Given the description of an element on the screen output the (x, y) to click on. 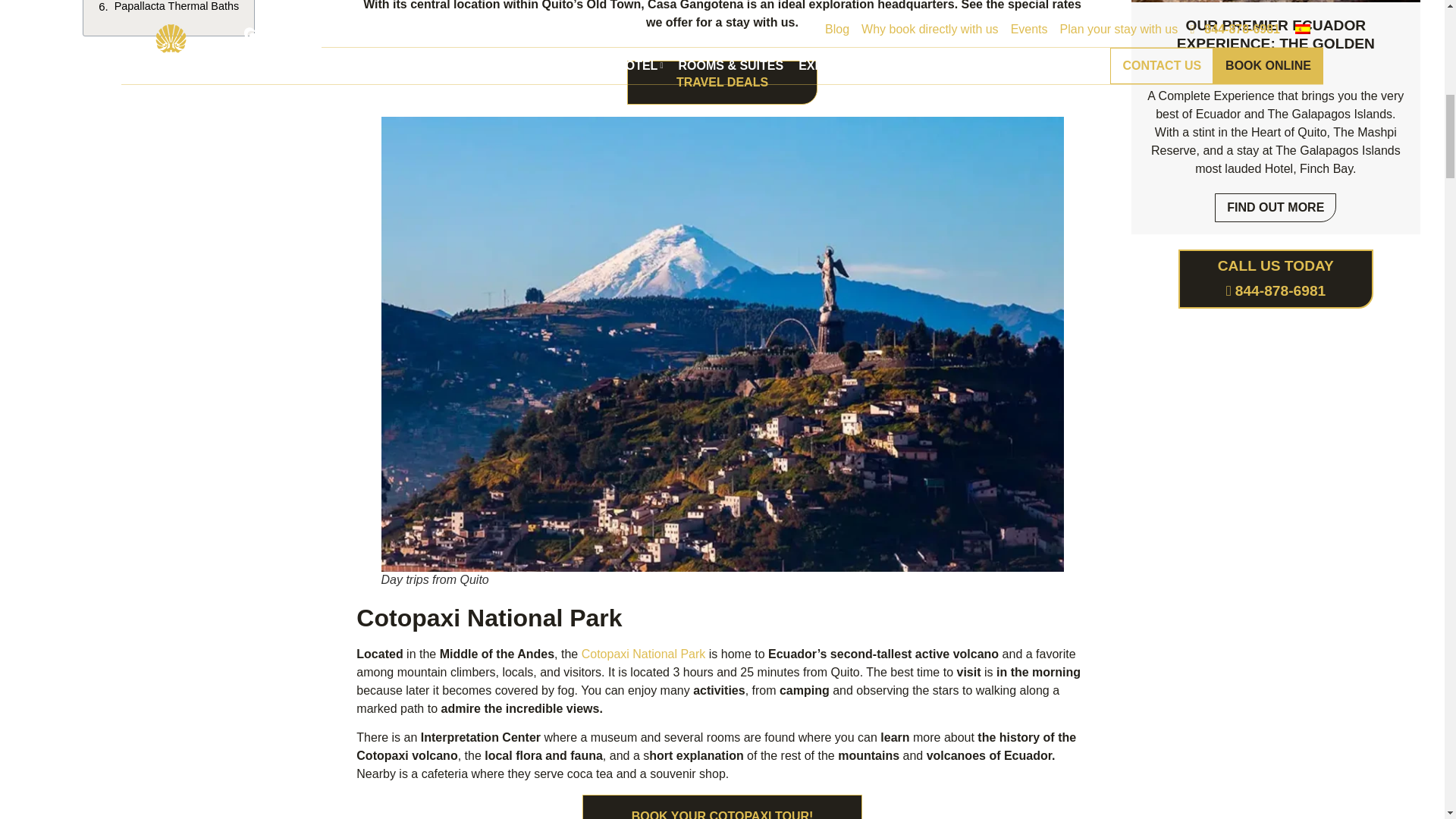
Cotopaxi National Park (643, 653)
Book your Cotopaxi Tour! (722, 814)
Travel Deals (721, 97)
